Given the description of an element on the screen output the (x, y) to click on. 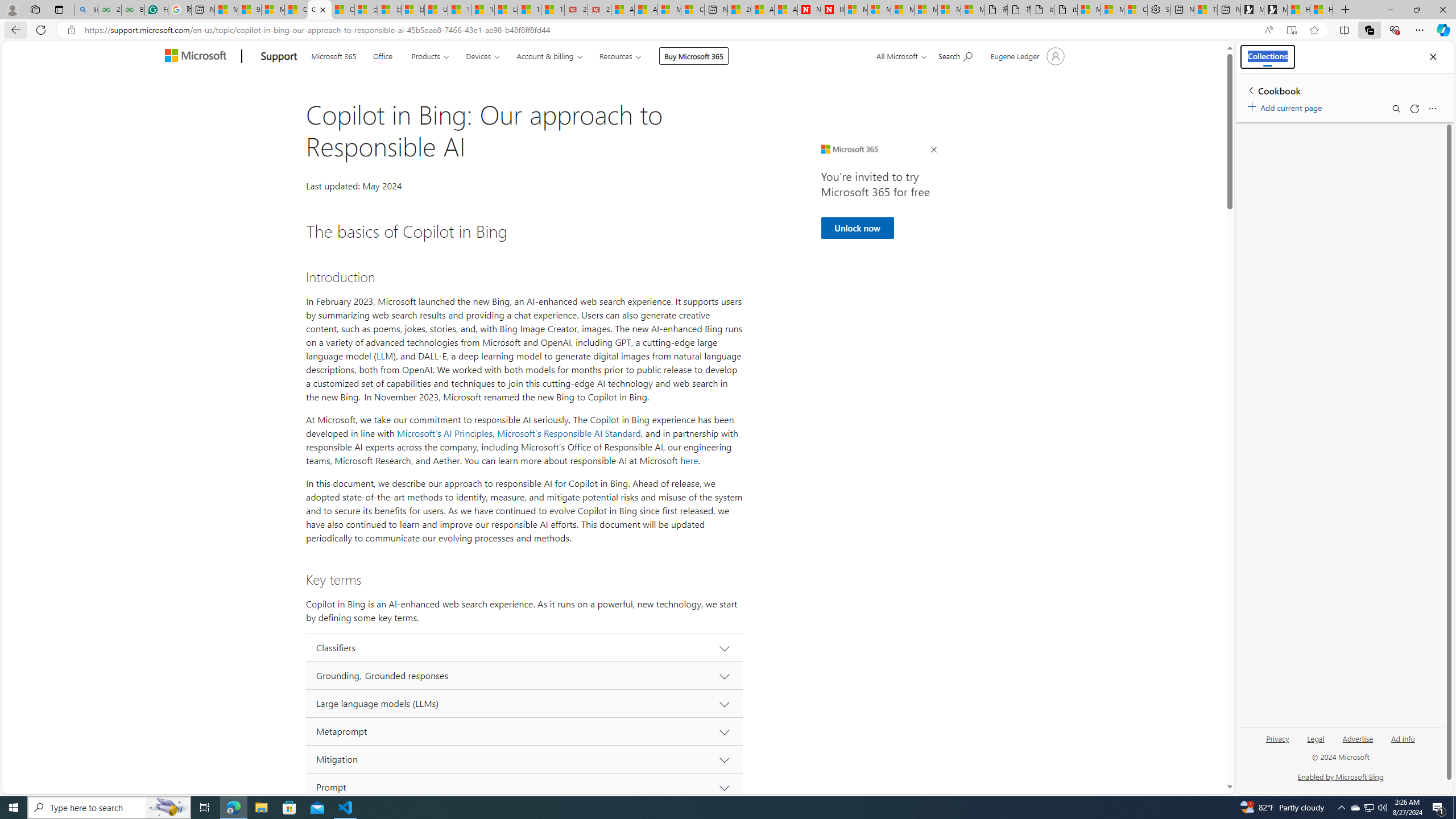
USA TODAY - MSN (435, 9)
Three Ways To Stop Sweating So Much (1205, 9)
linux basic - Search (86, 9)
Office (382, 54)
